Given the description of an element on the screen output the (x, y) to click on. 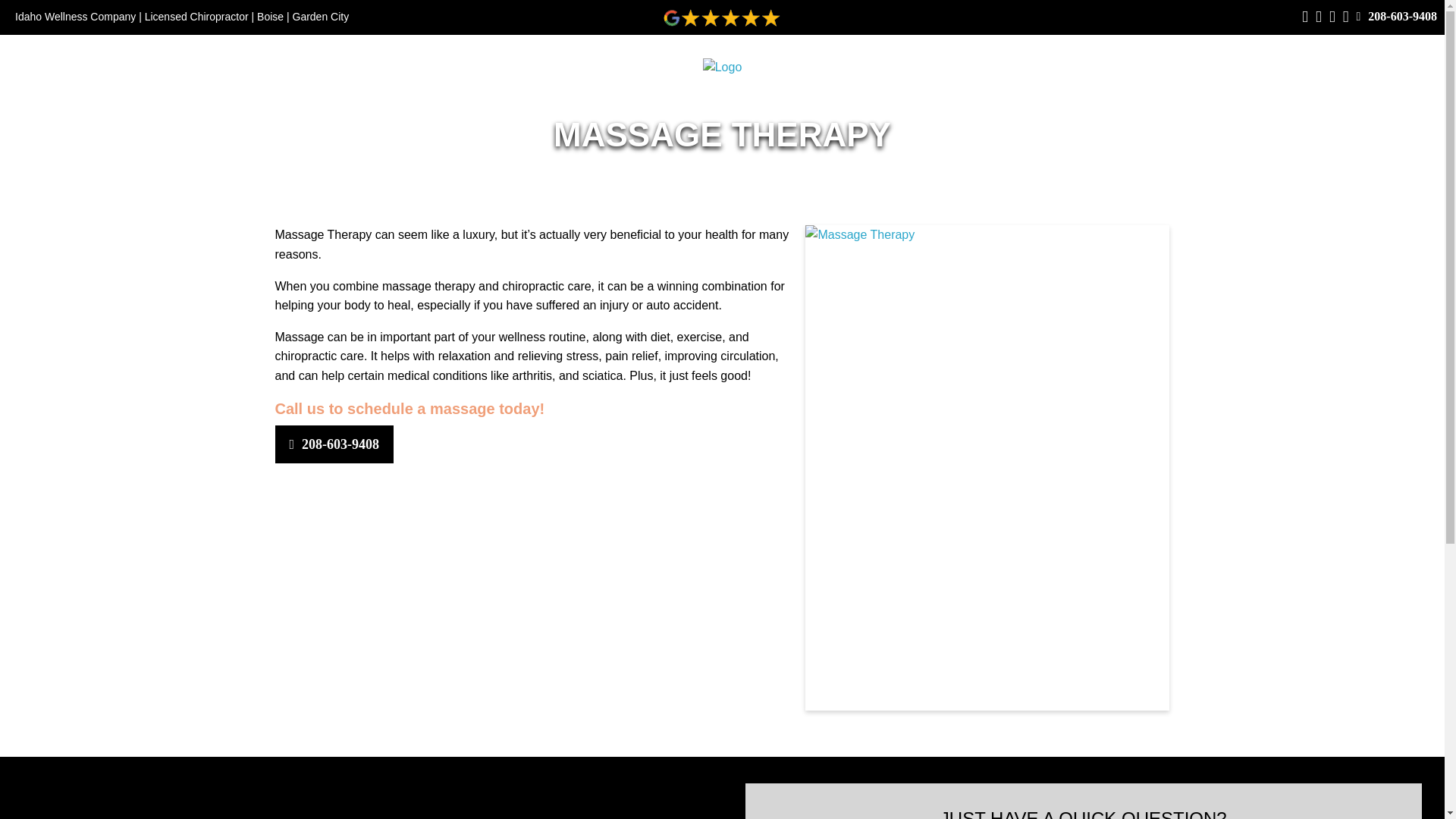
Local: 208-603-9408 (334, 444)
208-603-9408 (1396, 15)
Local: 208-603-9408 (1396, 15)
